Given the description of an element on the screen output the (x, y) to click on. 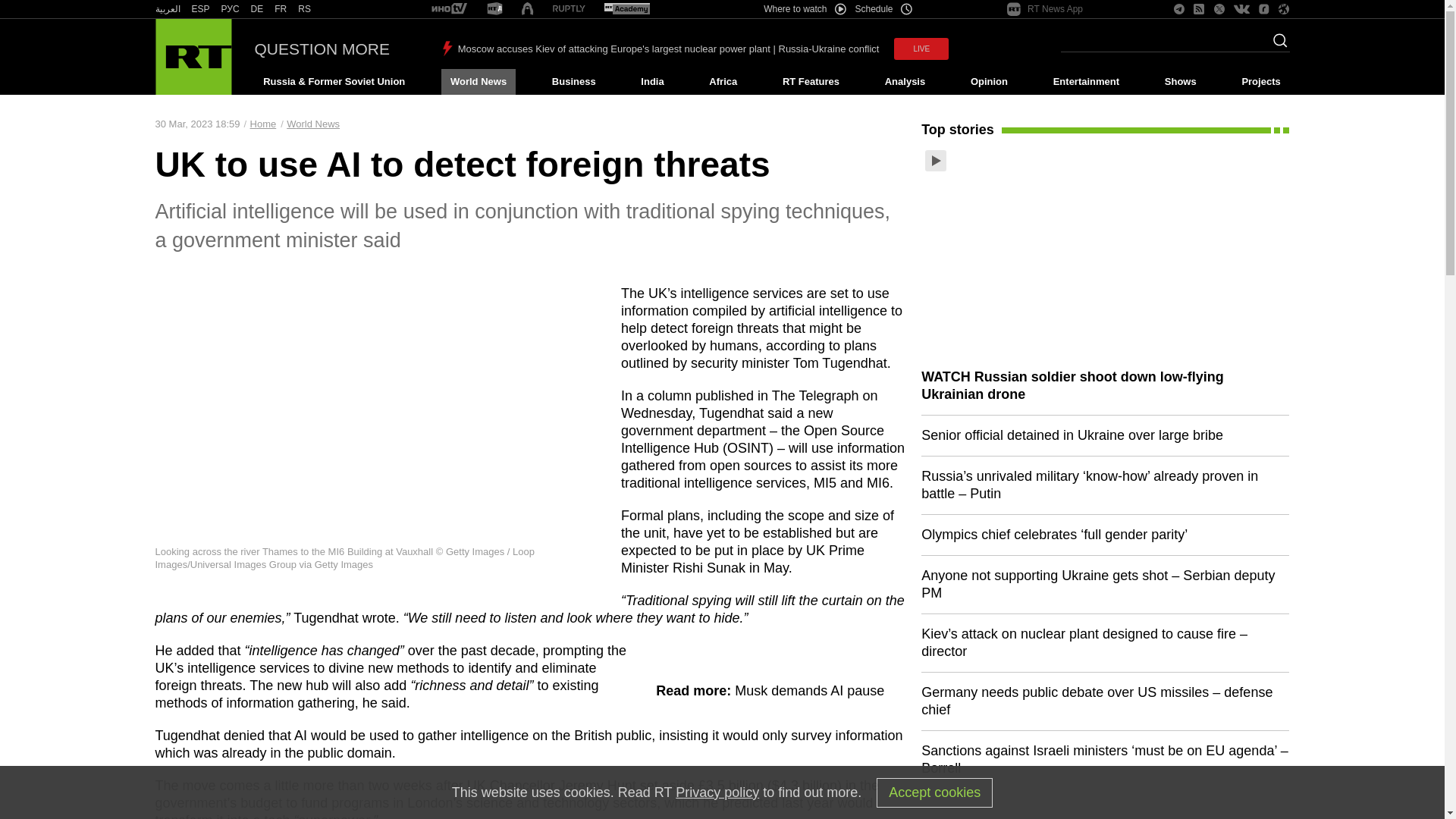
India (651, 81)
Search (1276, 44)
World News (478, 81)
RT  (199, 9)
RT  (626, 9)
RT  (448, 9)
Where to watch (803, 9)
RT  (569, 8)
Analysis (905, 81)
RT  (166, 9)
